Given the description of an element on the screen output the (x, y) to click on. 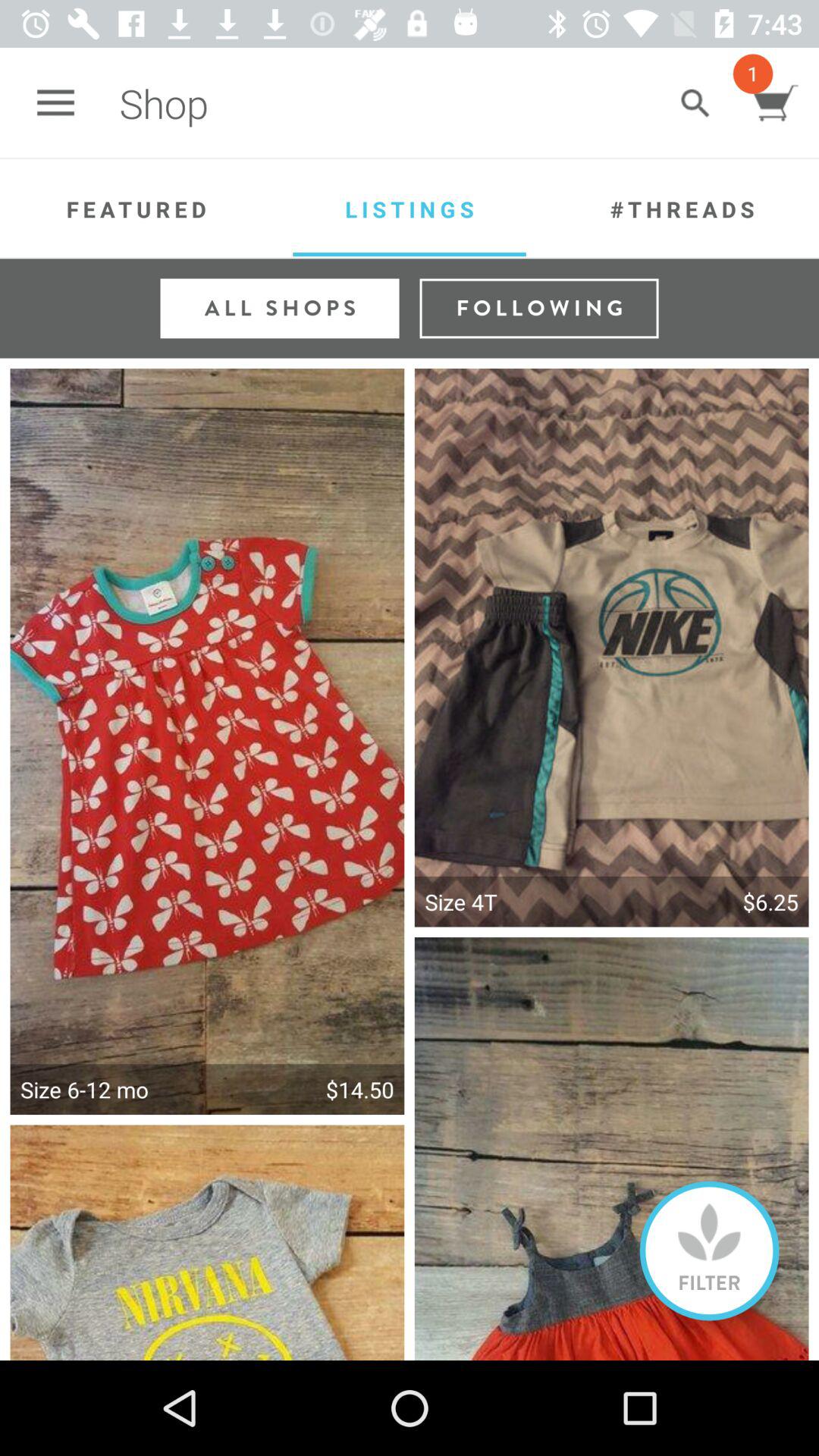
press the app next to shop (55, 103)
